Given the description of an element on the screen output the (x, y) to click on. 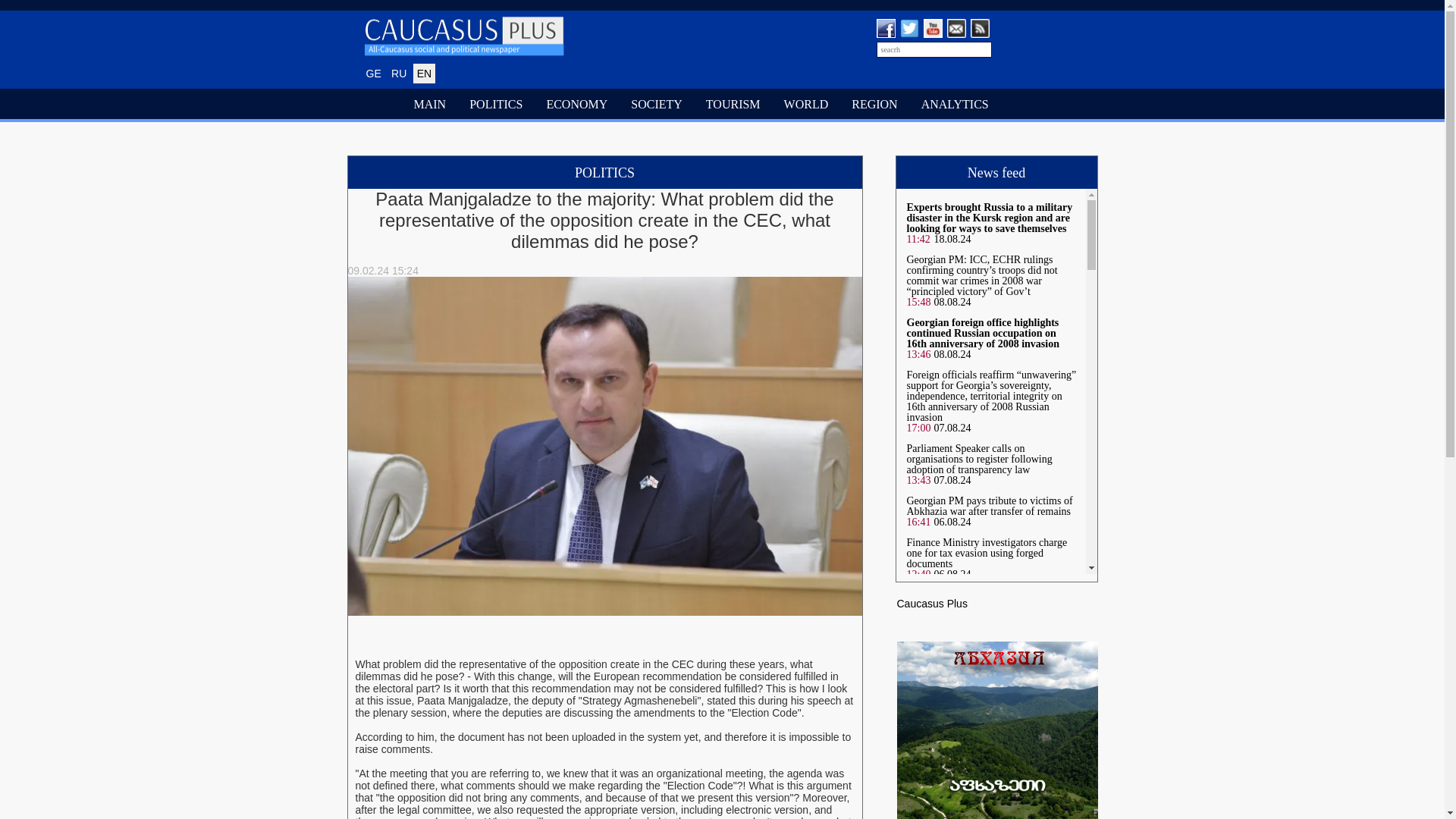
RU (398, 73)
Rains in forecast across Georgia in coming days (980, 704)
ECONOMY (577, 105)
EN (424, 73)
WORLD (806, 105)
REGION (874, 105)
